Given the description of an element on the screen output the (x, y) to click on. 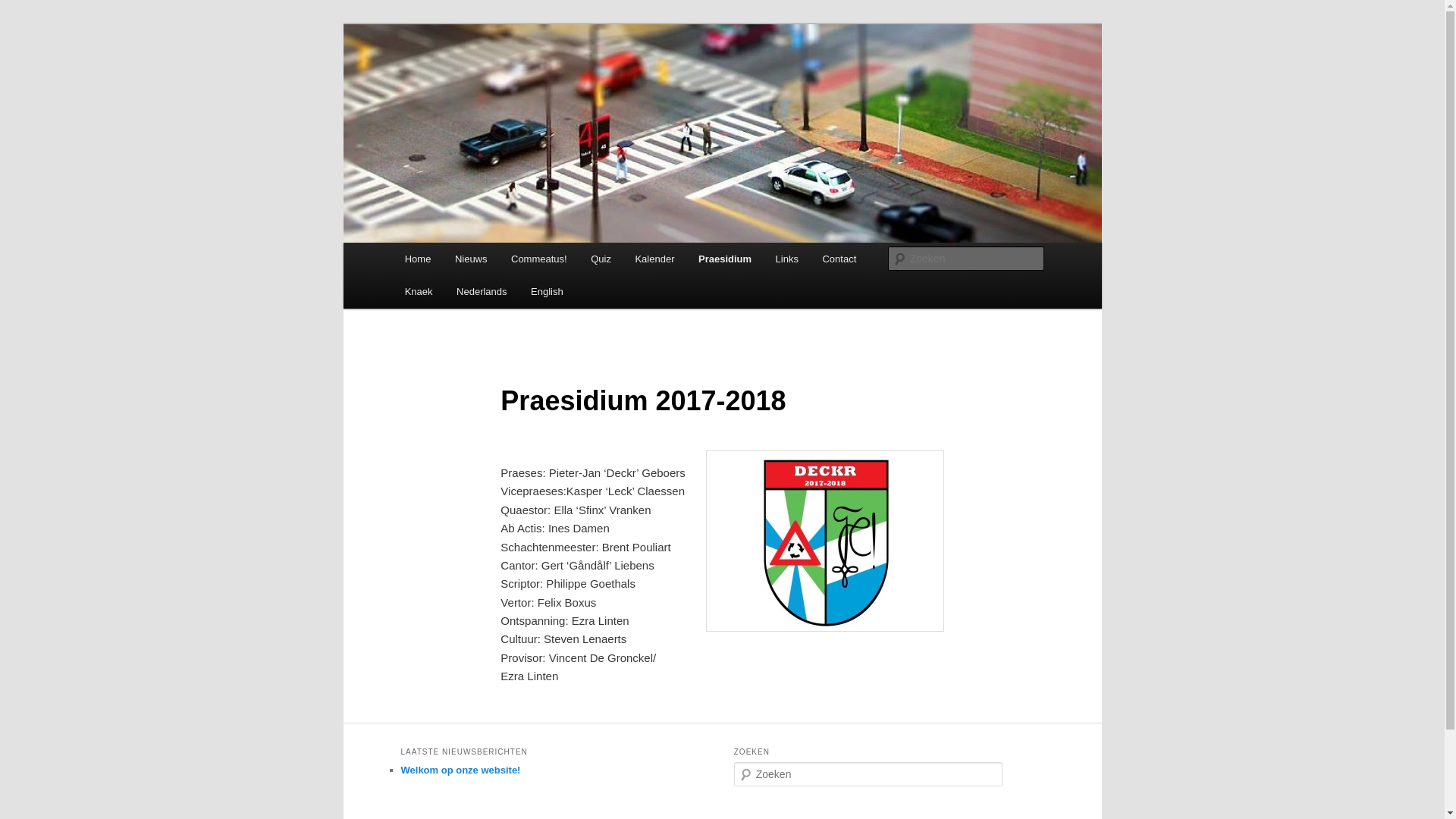
Nieuws Element type: text (470, 258)
Kalender Element type: text (655, 258)
Quiz Element type: text (600, 258)
Nederlands Element type: text (481, 291)
English Element type: text (546, 291)
Links Element type: text (786, 258)
Praesidium Element type: text (724, 258)
Zoeken Element type: text (25, 8)
Contact Element type: text (839, 258)
Commeatus! Element type: text (538, 258)
Knaek Element type: text (418, 291)
Commeatus! Element type: text (469, 78)
Home Element type: text (417, 258)
Zoeken Element type: text (21, 10)
Welkom op onze website! Element type: text (460, 769)
Spring naar de primaire inhoud Element type: text (22, 22)
